Given the description of an element on the screen output the (x, y) to click on. 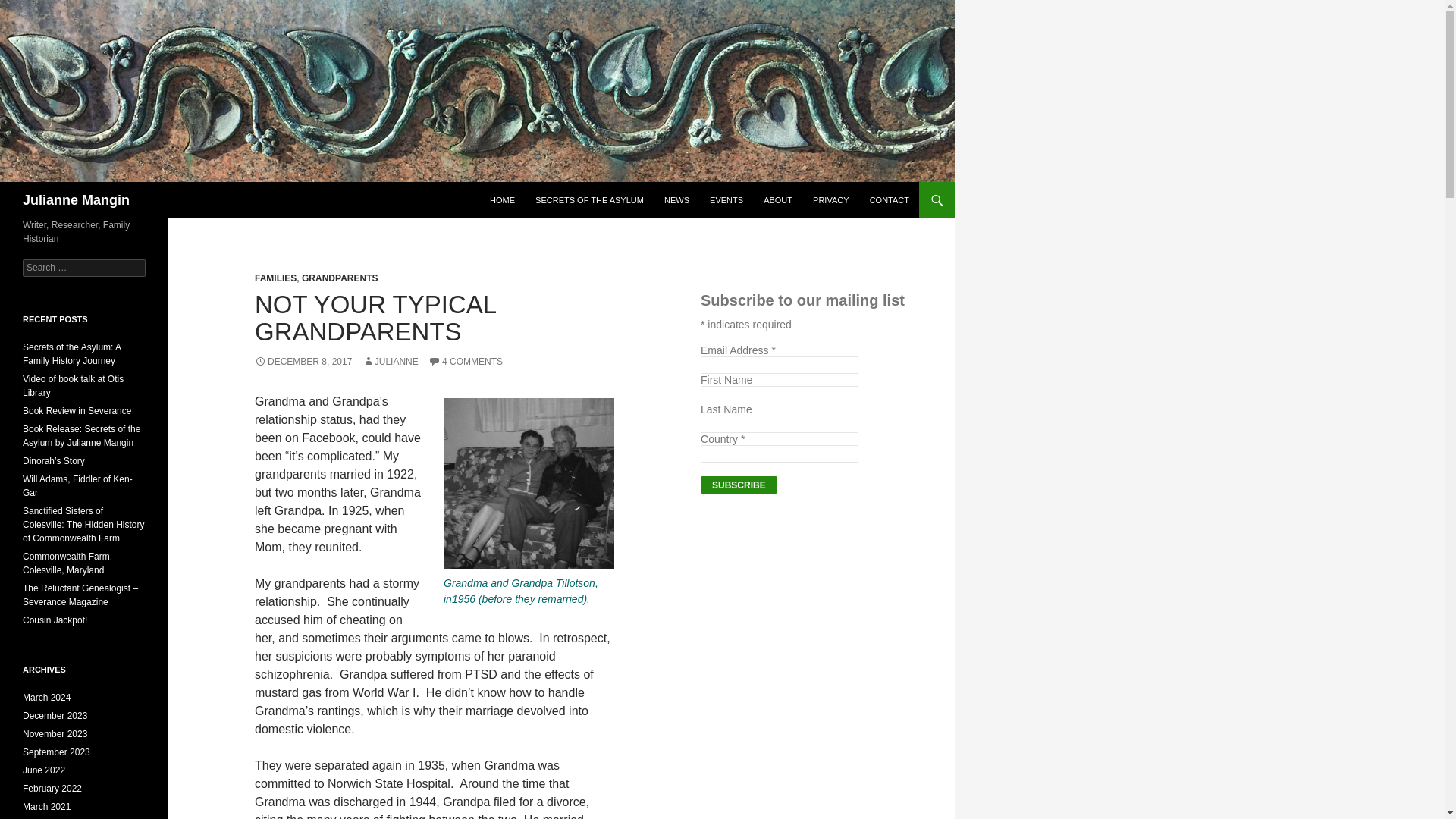
NEWS (676, 199)
CONTACT (889, 199)
Secrets of the Asylum: A Family History Journey (71, 354)
Subscribe (738, 484)
HOME (502, 199)
Julianne Mangin (76, 199)
JULIANNE (390, 361)
SECRETS OF THE ASYLUM (588, 199)
